Given the description of an element on the screen output the (x, y) to click on. 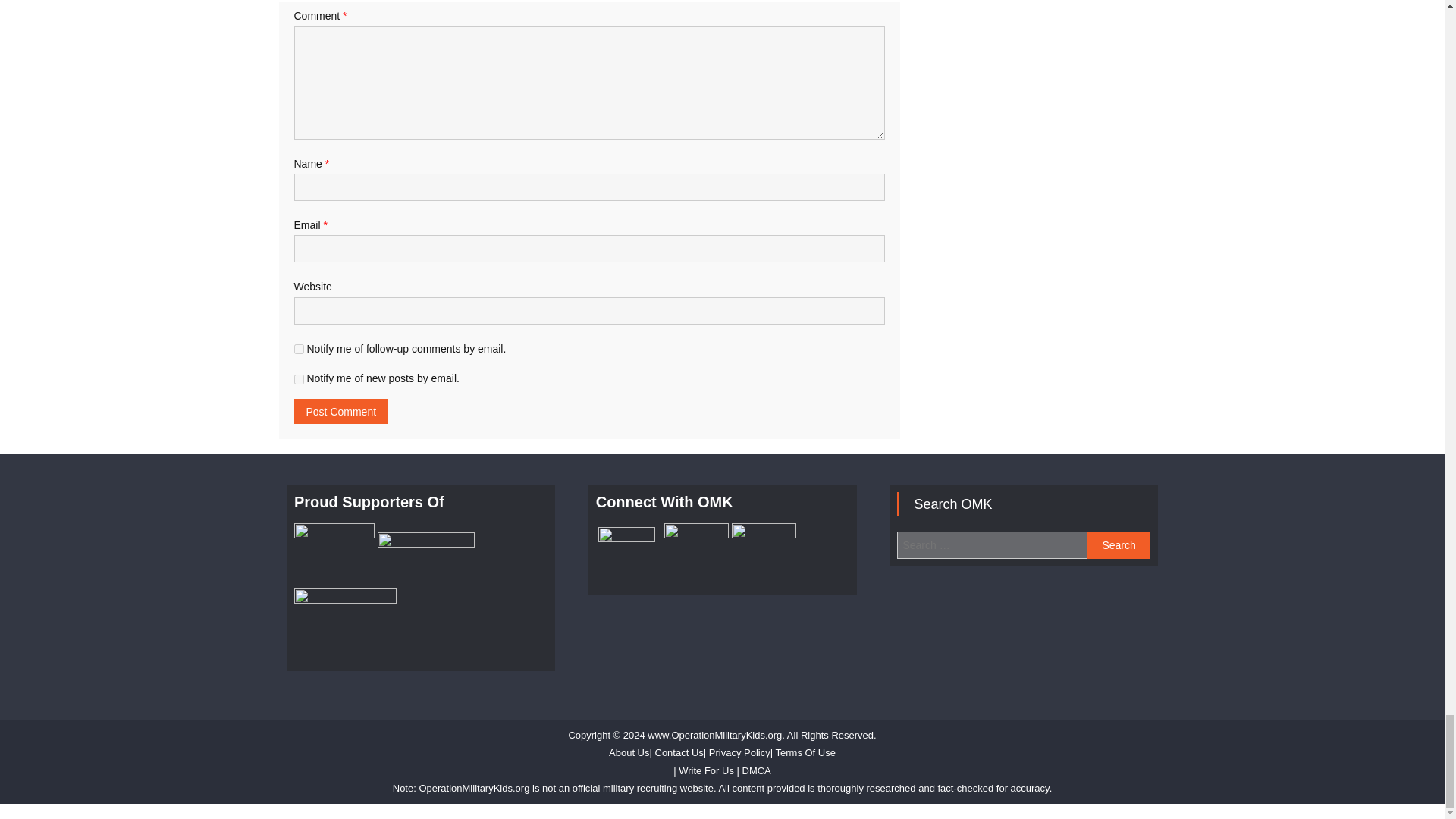
subscribe (299, 348)
Search (1118, 544)
Search (1118, 544)
Post Comment (341, 411)
subscribe (299, 379)
